Given the description of an element on the screen output the (x, y) to click on. 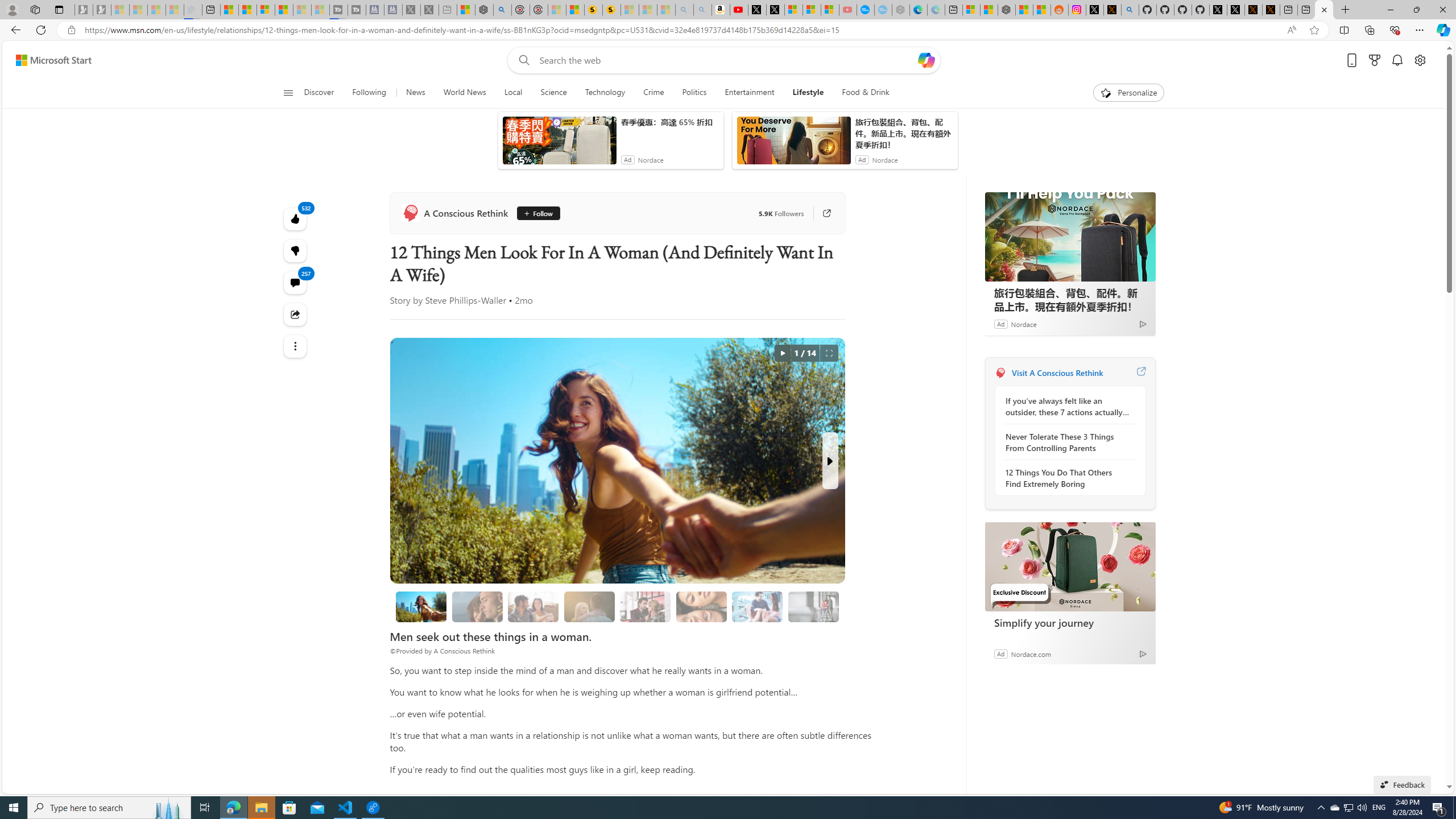
Notifications (1397, 78)
Like (648, 327)
Dislike (504, 505)
tab-3 (1025, 509)
Descarga Driver Updater (794, 49)
View comments 10 Comment (525, 505)
View comments 42 Comment (707, 327)
AutomationID: tab-23 (478, 328)
Discover Magazine (647, 270)
Heat - Severe Heat severe warning (1123, 208)
Travel (782, 151)
Inc. (647, 270)
github - Search (1112, 9)
